Given the description of an element on the screen output the (x, y) to click on. 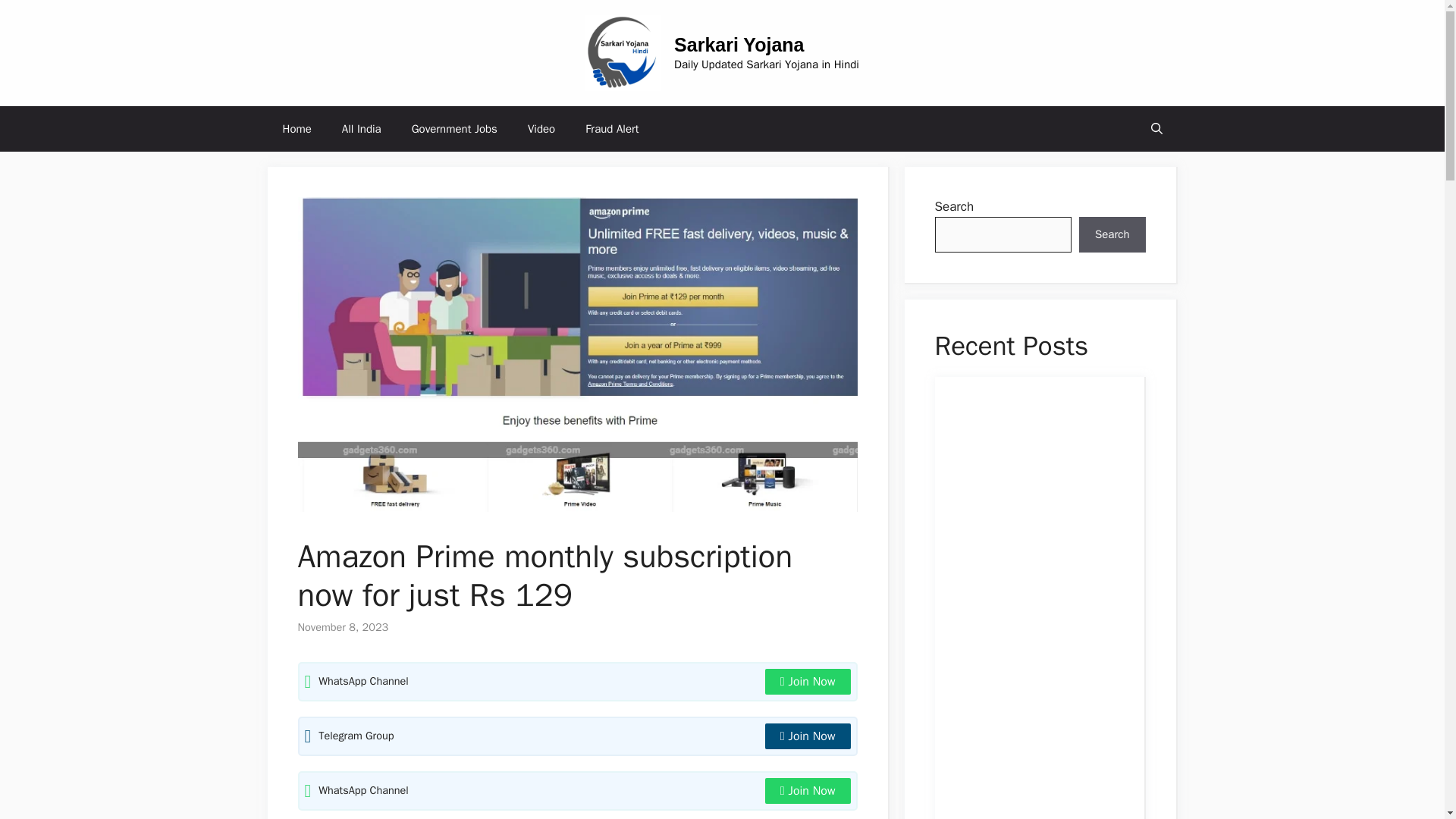
Video (541, 128)
Search (1111, 235)
Fraud Alert (611, 128)
Home (296, 128)
Join Now (807, 790)
Government Jobs (454, 128)
Join Now (807, 736)
All India (361, 128)
Join Now (807, 681)
Sarkari Yojana (738, 44)
